Given the description of an element on the screen output the (x, y) to click on. 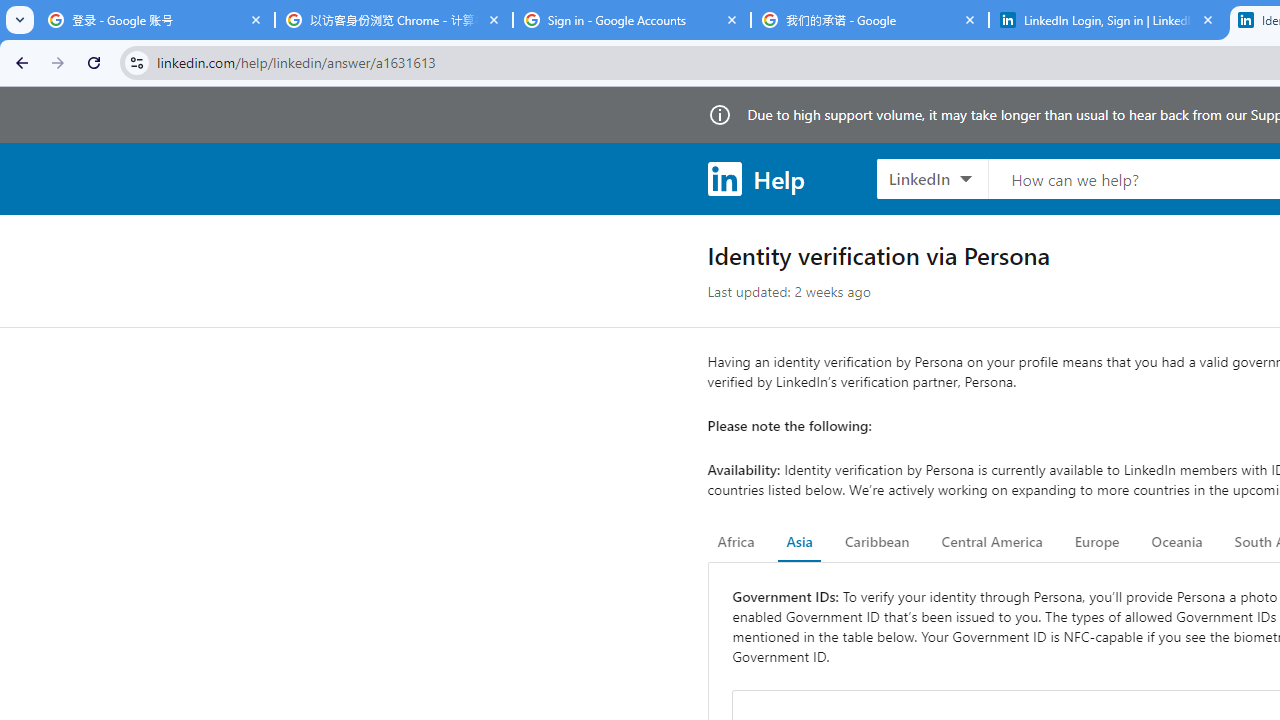
LinkedIn Login, Sign in | LinkedIn (1108, 20)
Central America (991, 542)
